Given the description of an element on the screen output the (x, y) to click on. 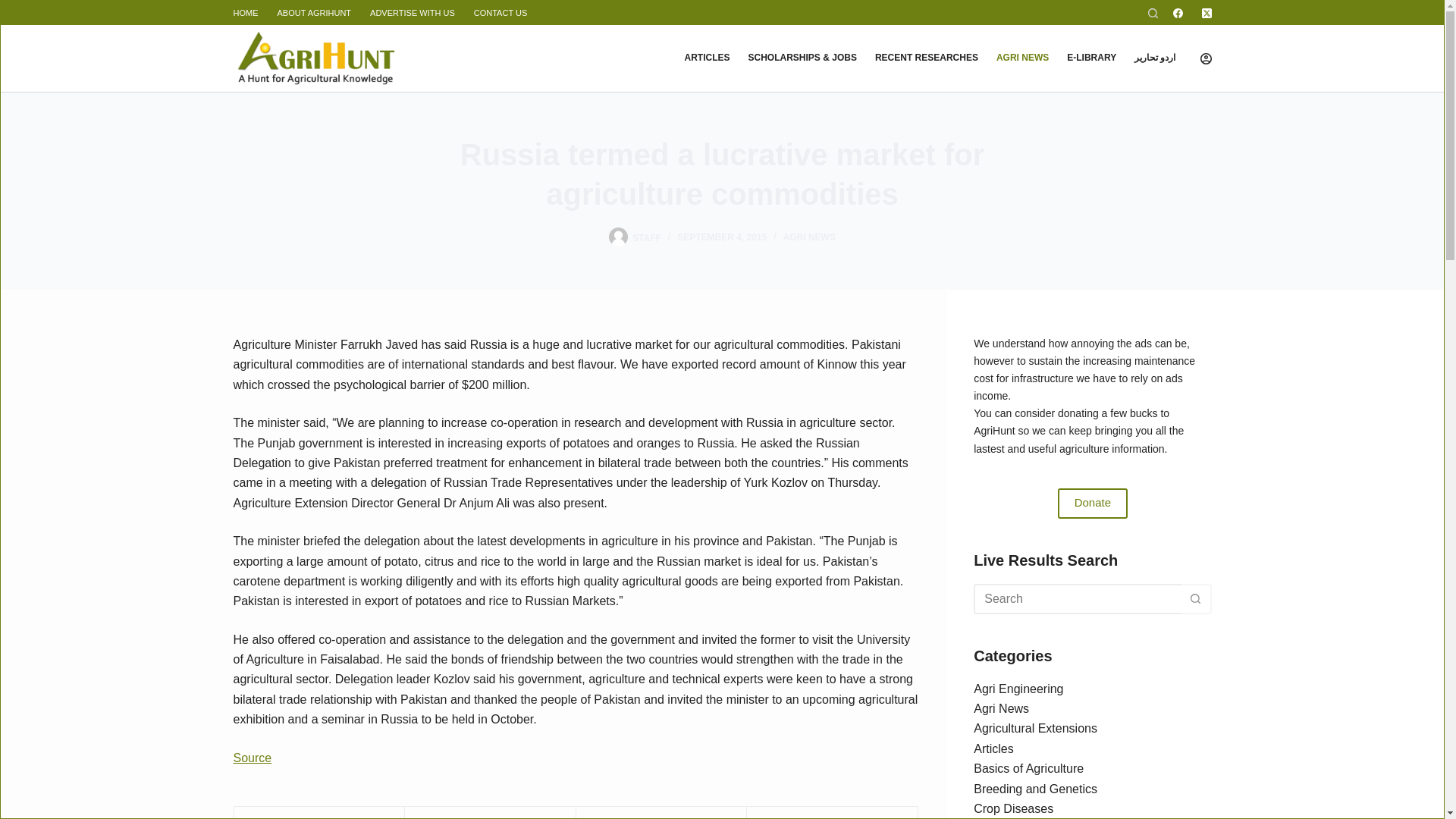
STAFF (646, 236)
Russia termed a lucrative market for agriculture commodities (722, 174)
CONTACT US (500, 12)
AGRI NEWS (1022, 58)
HOME (249, 12)
Posts by Staff (646, 236)
RECENT RESEARCHES (926, 58)
AGRI NEWS (809, 236)
Source (252, 757)
ADVERTISE WITH US (412, 12)
